Given the description of an element on the screen output the (x, y) to click on. 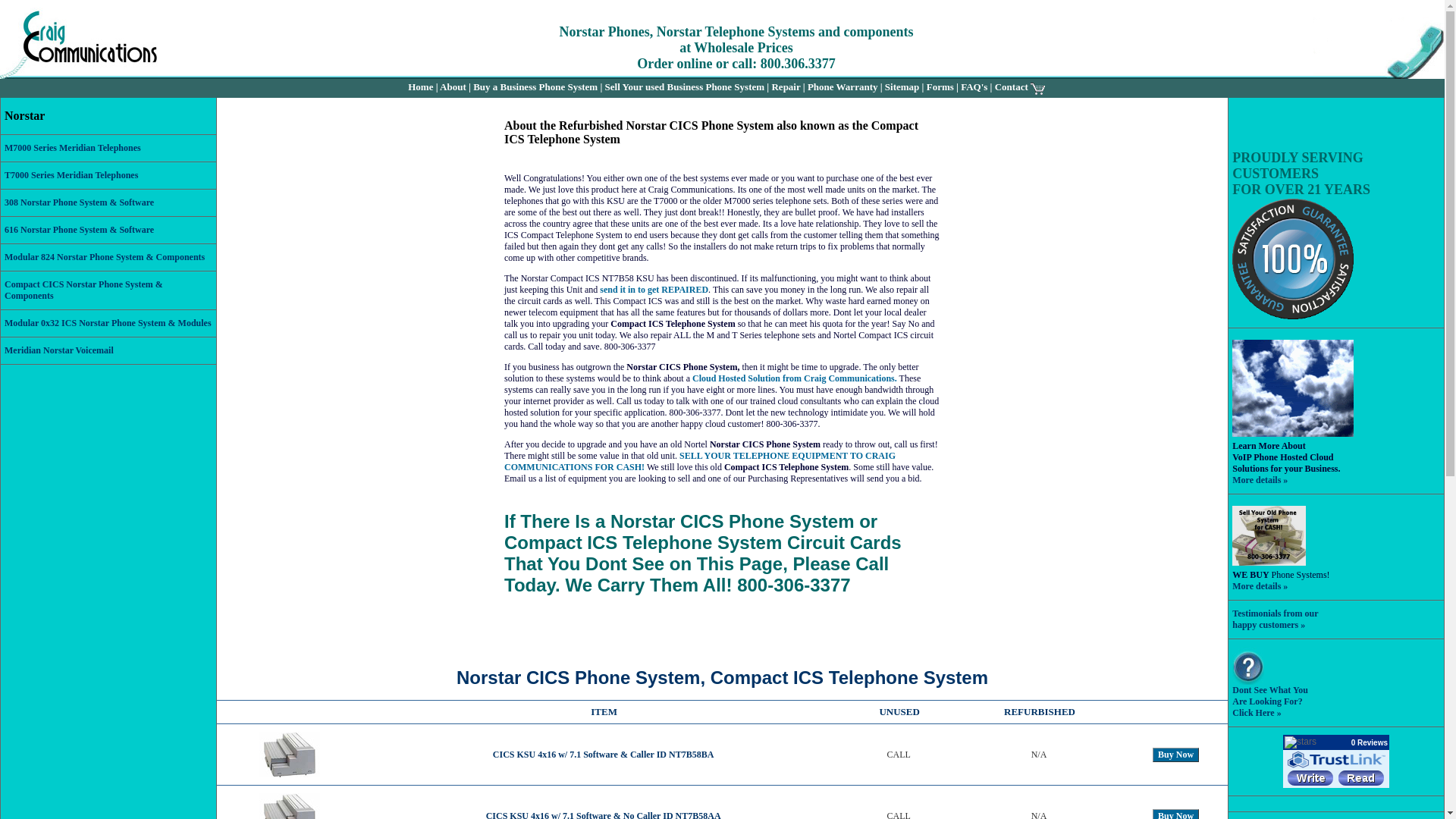
Buy a Business Phone System (534, 86)
Forms (939, 86)
Buy Now (1175, 754)
Meridian Norstar Voicemail (58, 349)
Contact (1010, 86)
Buy Now (1175, 813)
Cloud Hosted Solution from Craig Communications. (794, 378)
T7000 Series Meridian Telephones (71, 174)
send it in to get REPAIRED (653, 289)
